Given the description of an element on the screen output the (x, y) to click on. 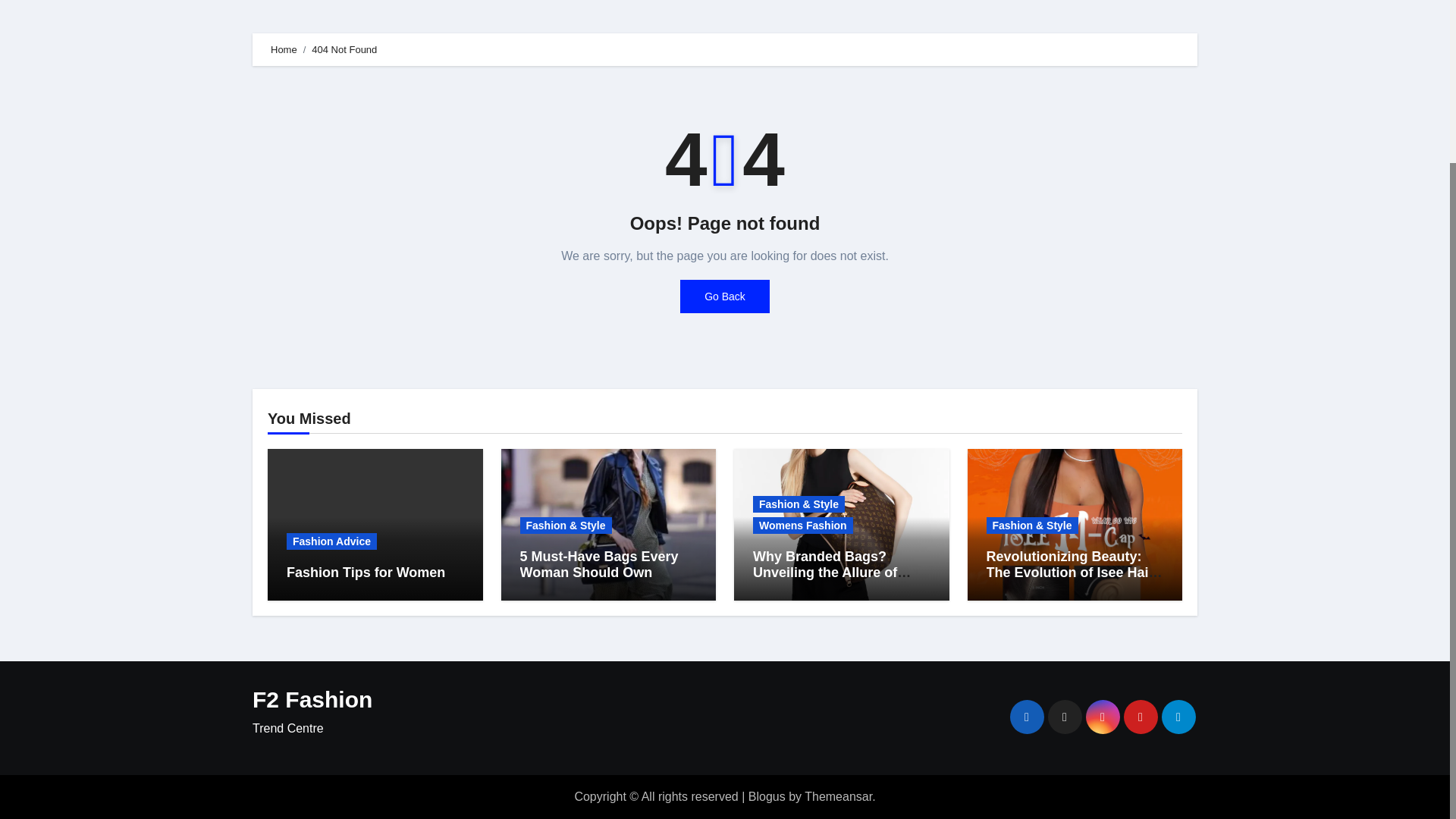
Go Back (724, 296)
Home (283, 49)
